Given the description of an element on the screen output the (x, y) to click on. 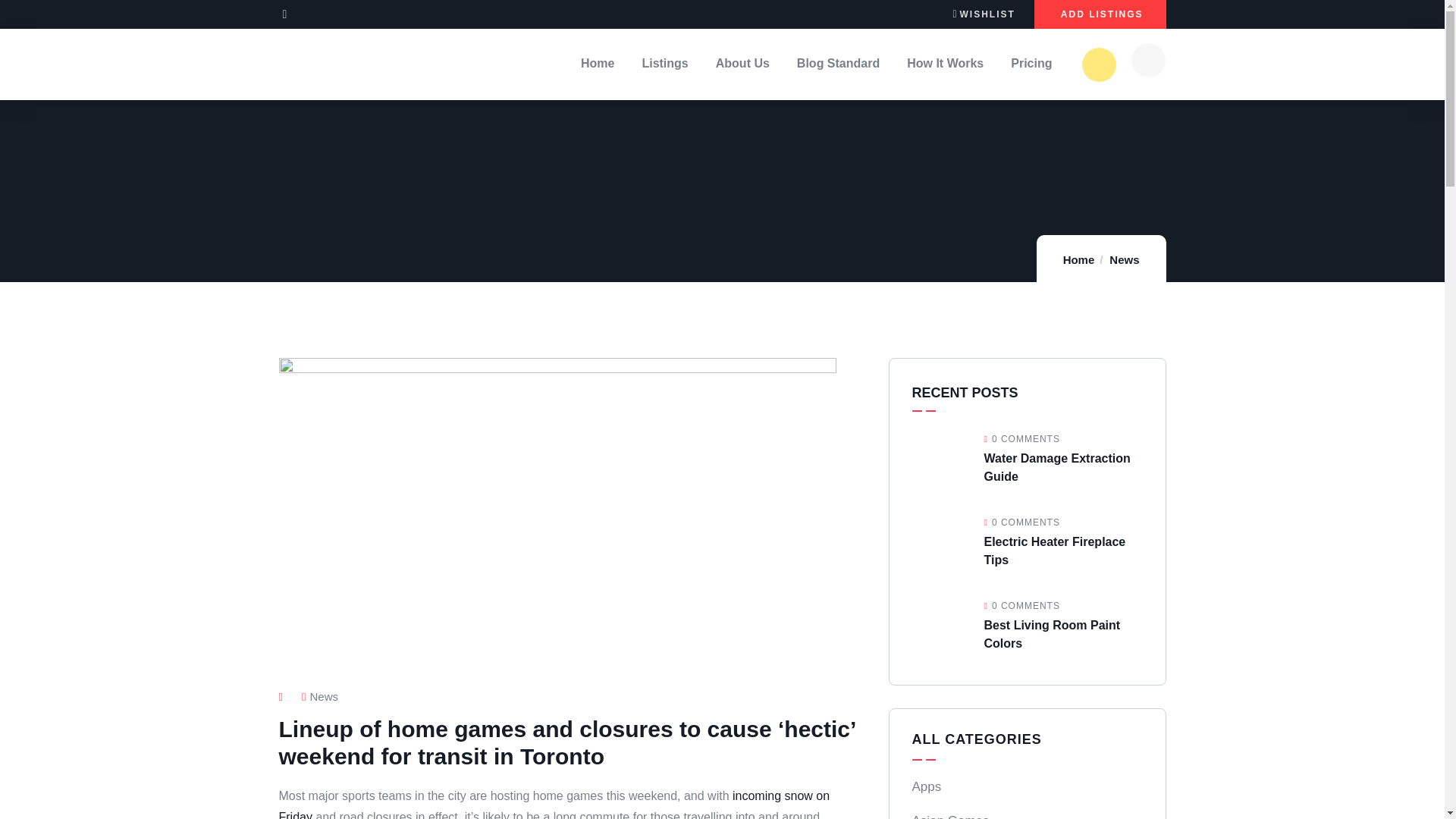
News (322, 696)
News (1123, 259)
Blog Standard (837, 63)
incoming snow on Friday (554, 804)
How It Works (945, 63)
Home (1078, 259)
ADD LISTINGS (1099, 14)
WISHLIST (983, 13)
